Given the description of an element on the screen output the (x, y) to click on. 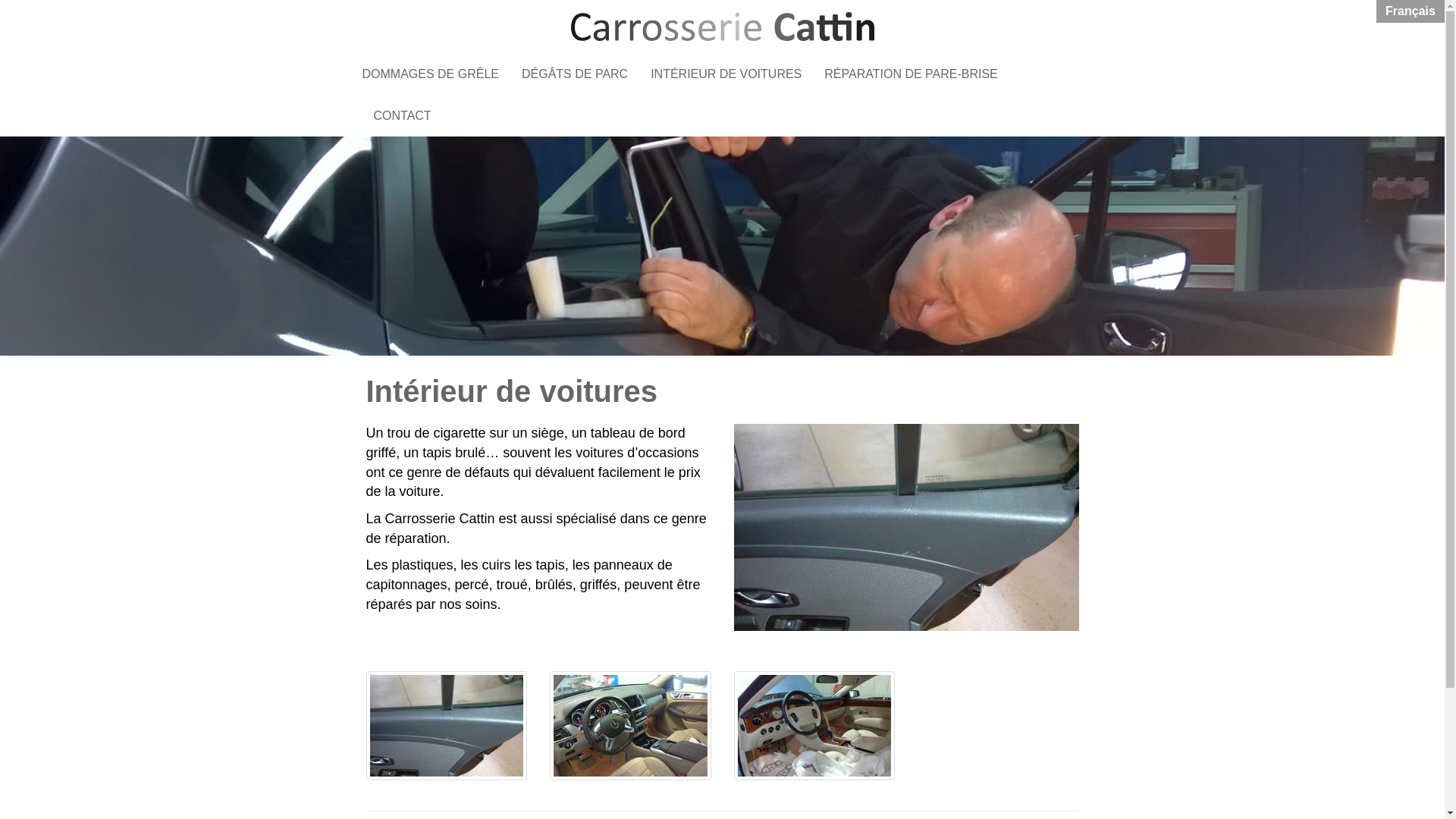
CONTACT Element type: text (402, 115)
[Header:ApplicationName] Element type: text (721, 26)
